Given the description of an element on the screen output the (x, y) to click on. 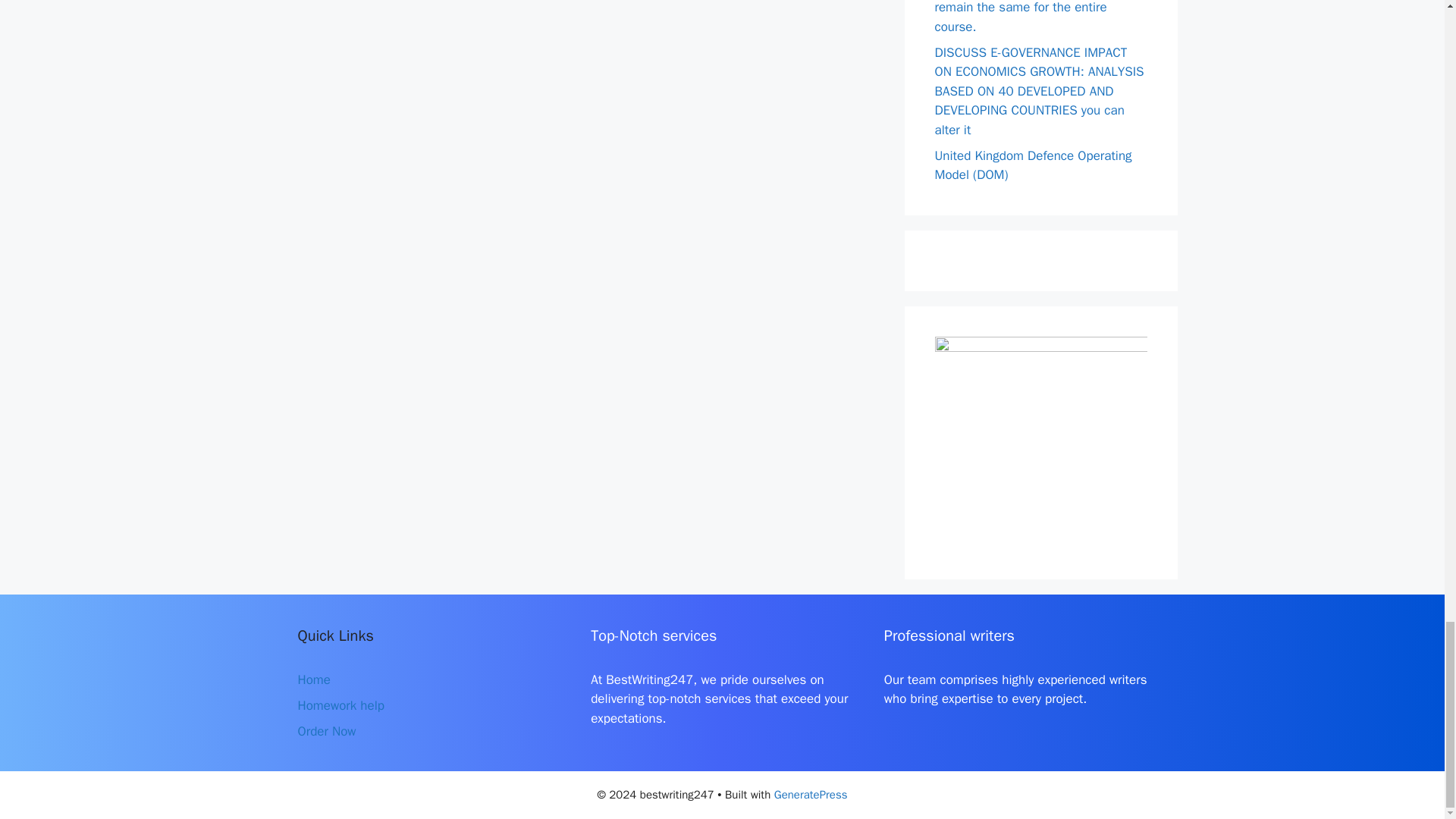
Home (313, 679)
Order Now (326, 731)
GeneratePress (810, 794)
Homework help (340, 705)
